Given the description of an element on the screen output the (x, y) to click on. 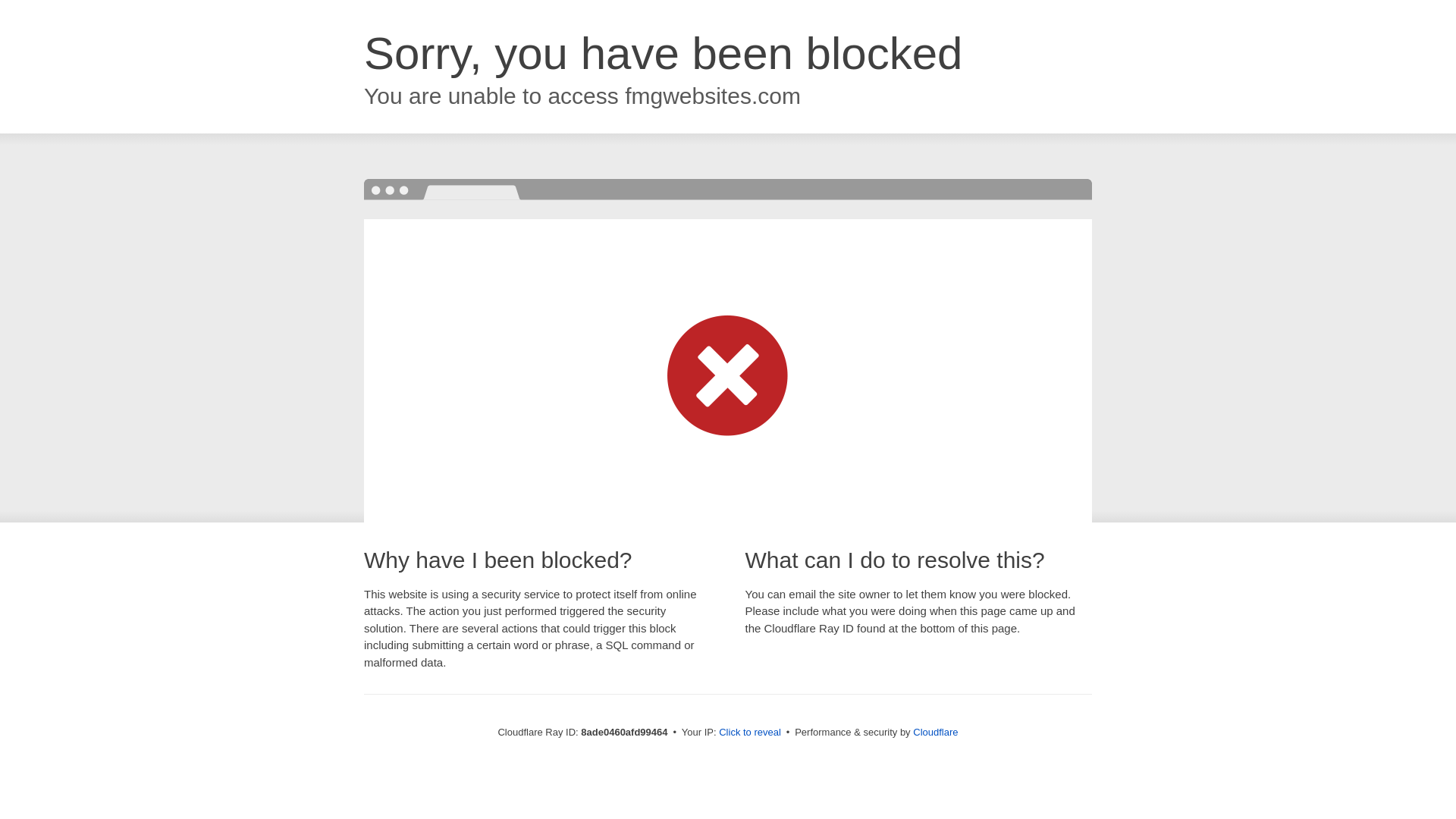
Click to reveal (749, 732)
Cloudflare (935, 731)
